Given the description of an element on the screen output the (x, y) to click on. 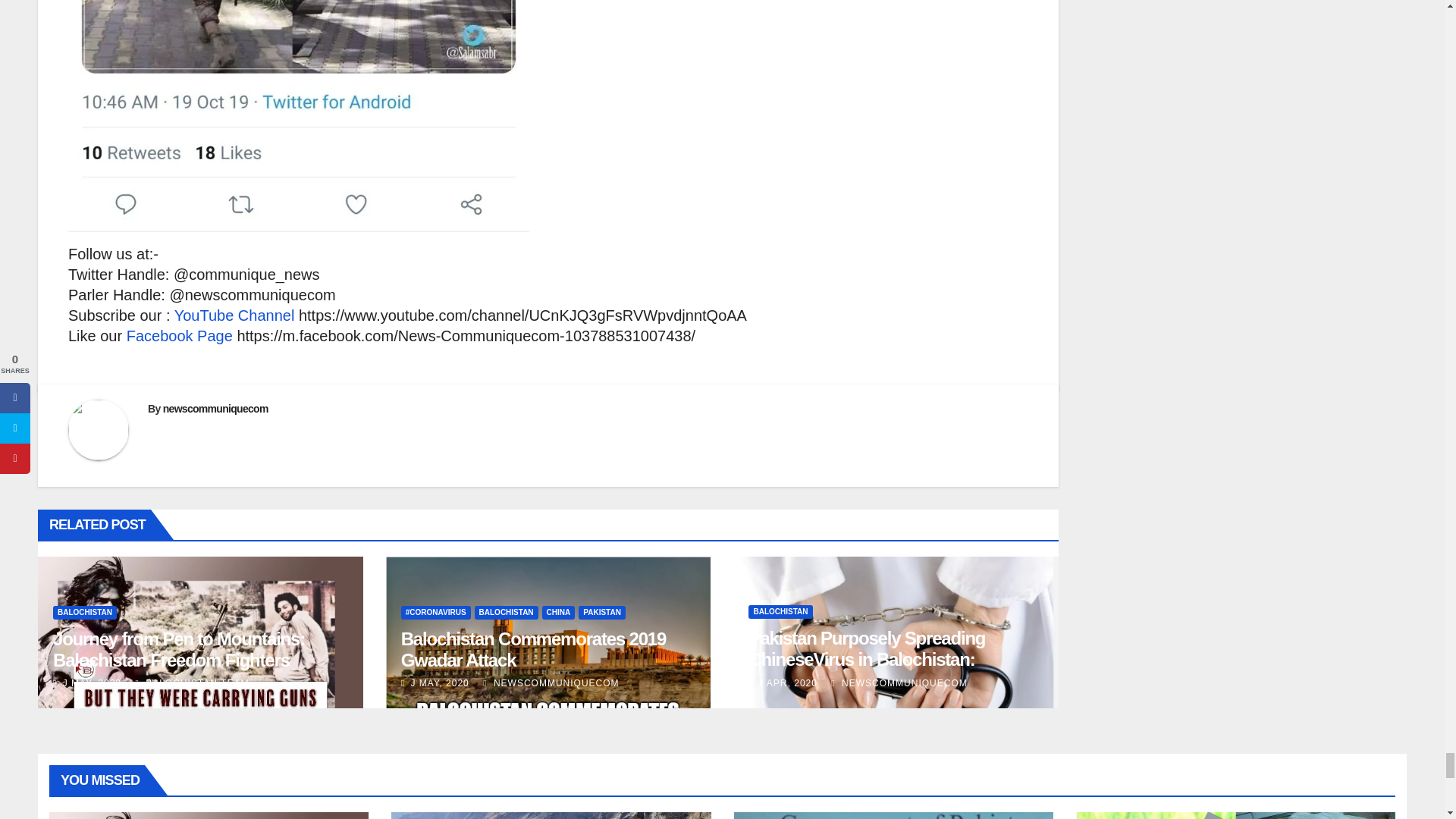
Facebook Page (179, 335)
Permalink to: Balochistan Commemorates 2019 Gwadar Attack (533, 649)
J MAY, 2020 (89, 683)
Journey from Pen to Mountains: Balochistan Freedom Fighters (178, 649)
YouTube Channel (234, 315)
BALOCHISTAN TEAM (191, 683)
newscommuniquecom (215, 408)
BALOCHISTAN (84, 612)
